Given the description of an element on the screen output the (x, y) to click on. 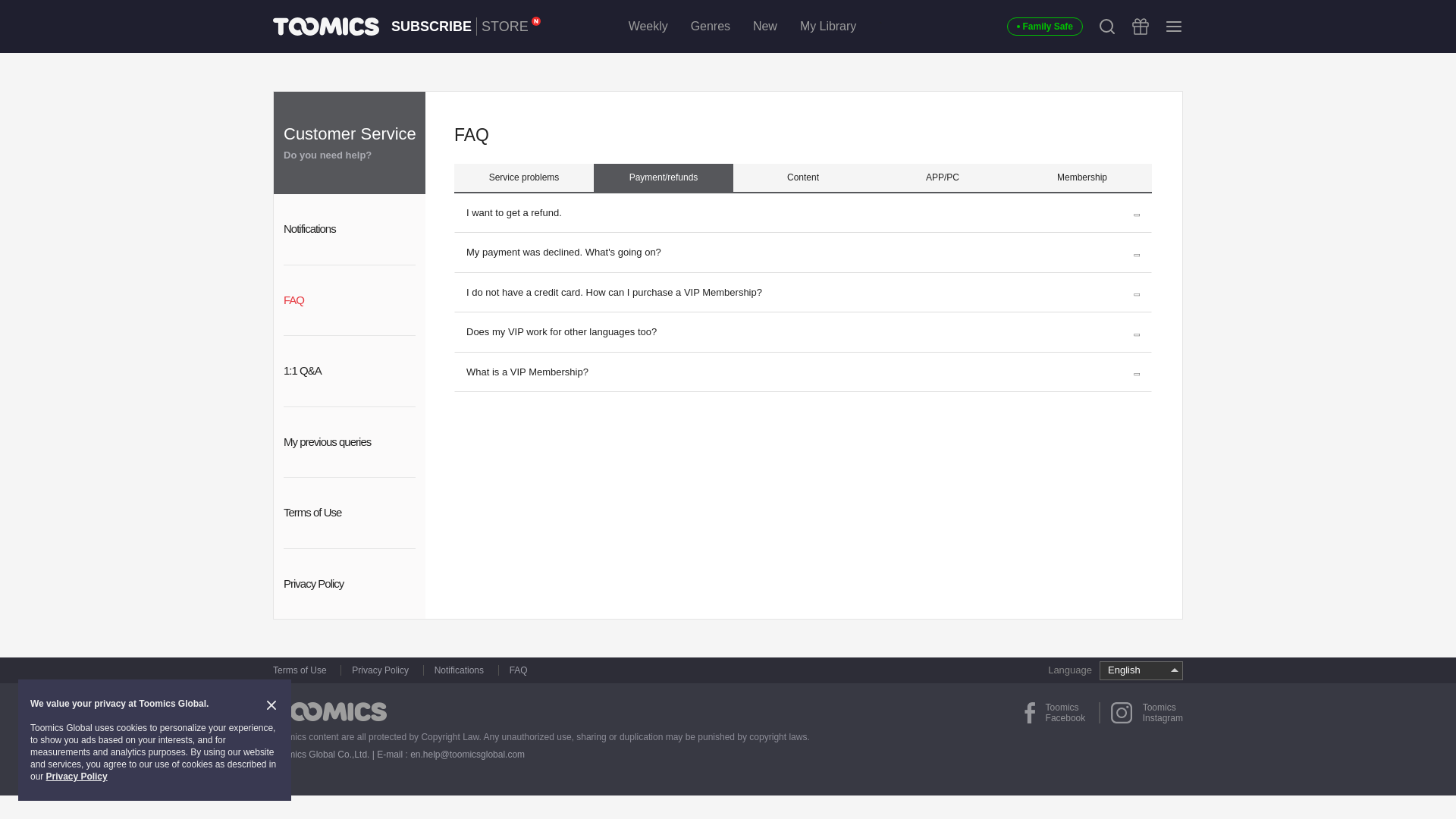
Content (802, 177)
Genres (710, 25)
Search (510, 26)
Weekly (1106, 26)
SUBSCRIBE (648, 25)
Notifications (431, 26)
Terms of Use (348, 229)
TOOMICS (348, 512)
Gift Box (325, 26)
